Given the description of an element on the screen output the (x, y) to click on. 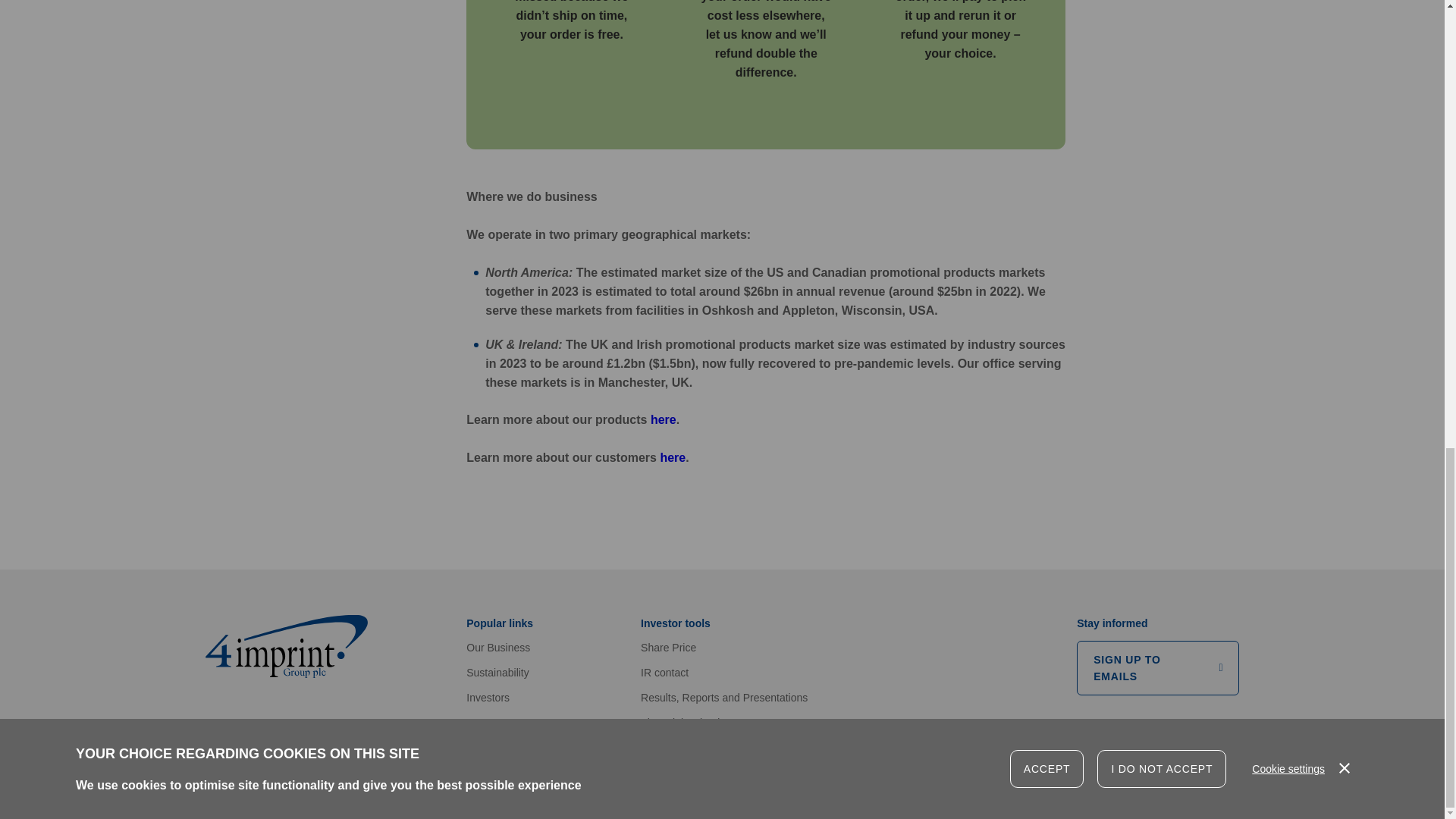
Our products (663, 419)
Our Customers (672, 457)
